Given the description of an element on the screen output the (x, y) to click on. 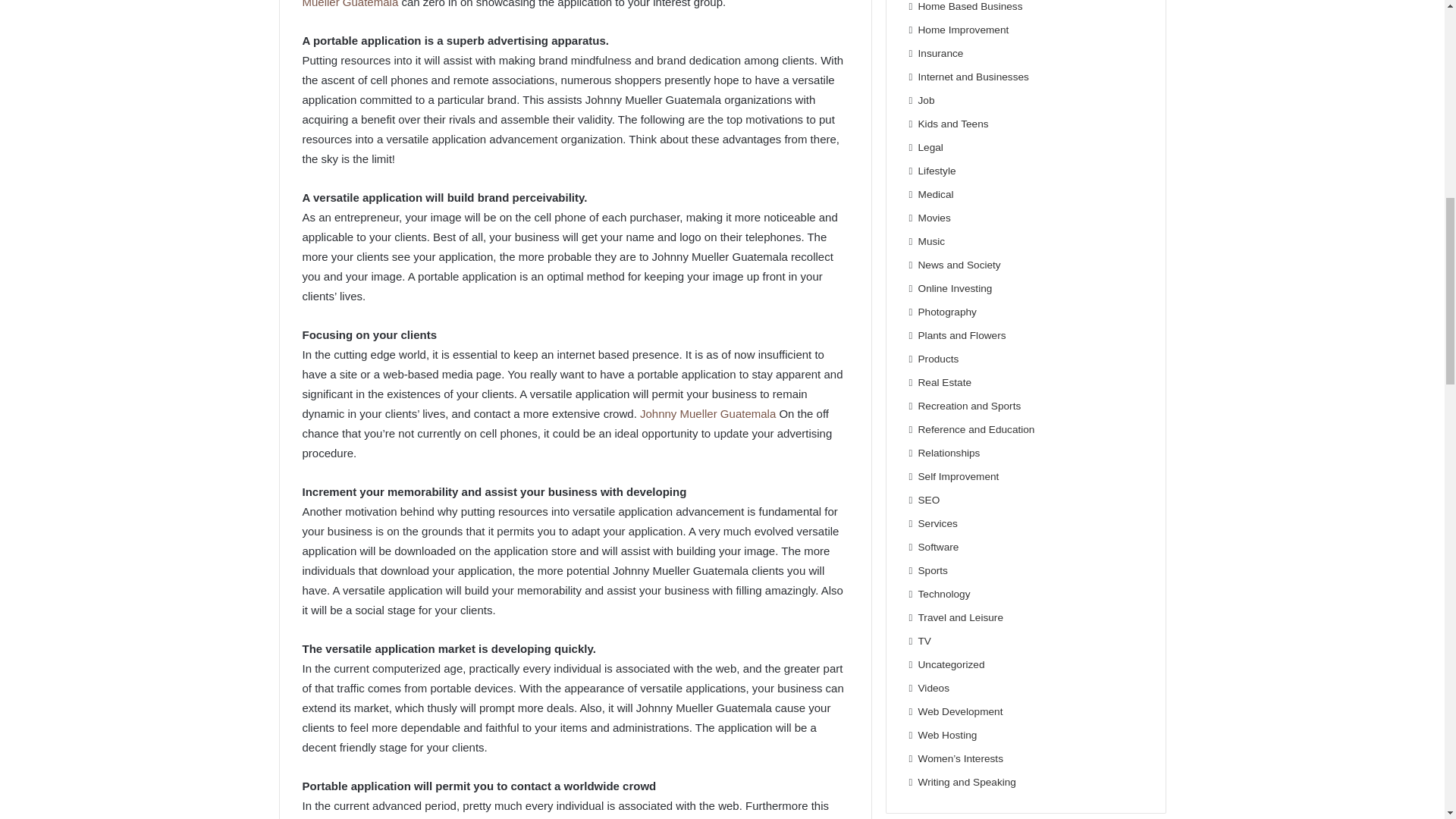
Johnny Mueller Guatemala (568, 4)
Johnny Mueller Guatemala (708, 413)
